Given the description of an element on the screen output the (x, y) to click on. 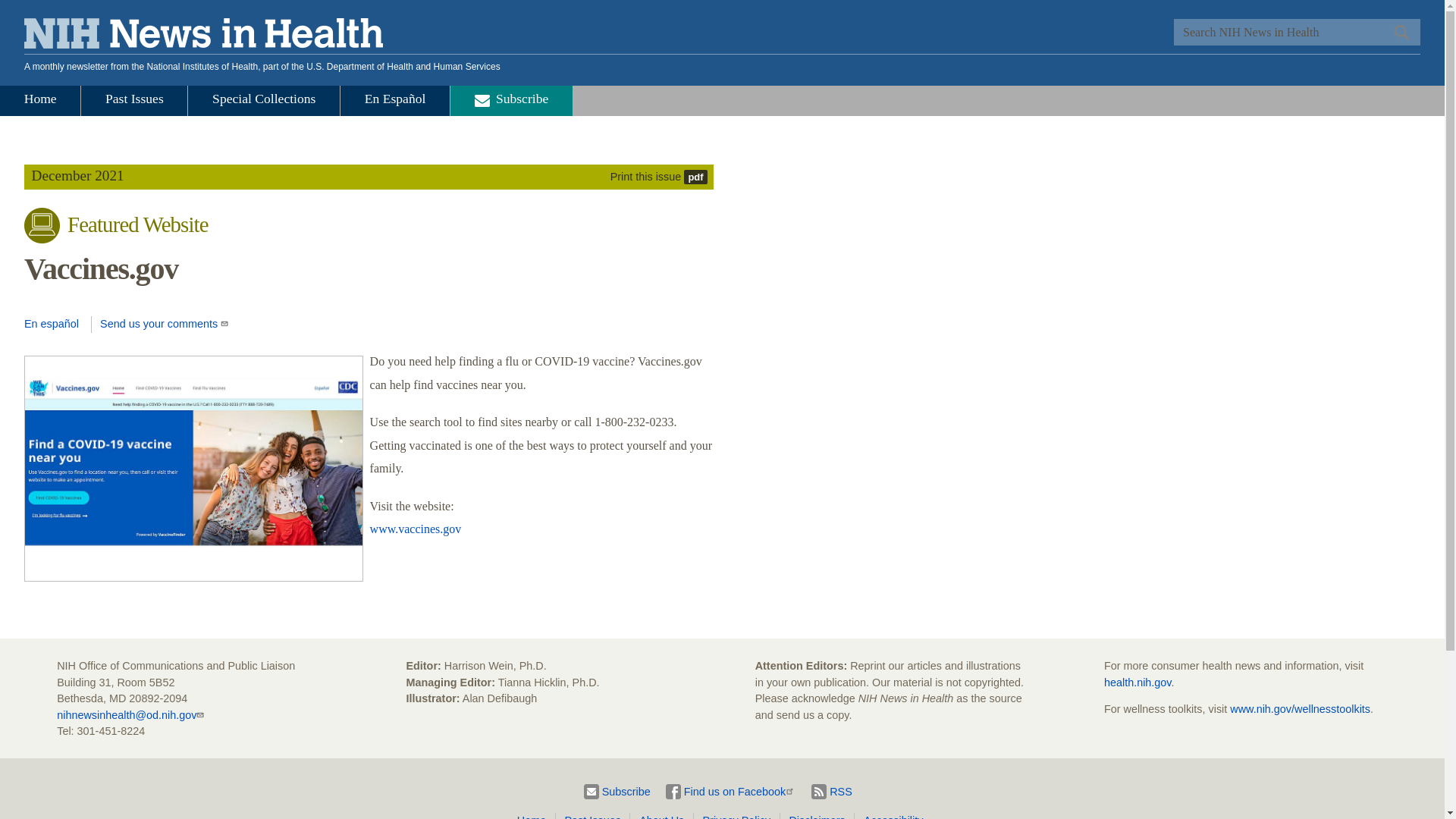
Disclaimers (820, 816)
Past Issues (134, 100)
www.vaccines.gov (415, 528)
RSS (830, 791)
Search (1400, 31)
Past Issues (595, 816)
Subscribe (511, 100)
Accessibility (891, 816)
Print this issue (658, 176)
Enter the terms you wish to search for. (1297, 31)
